Given the description of an element on the screen output the (x, y) to click on. 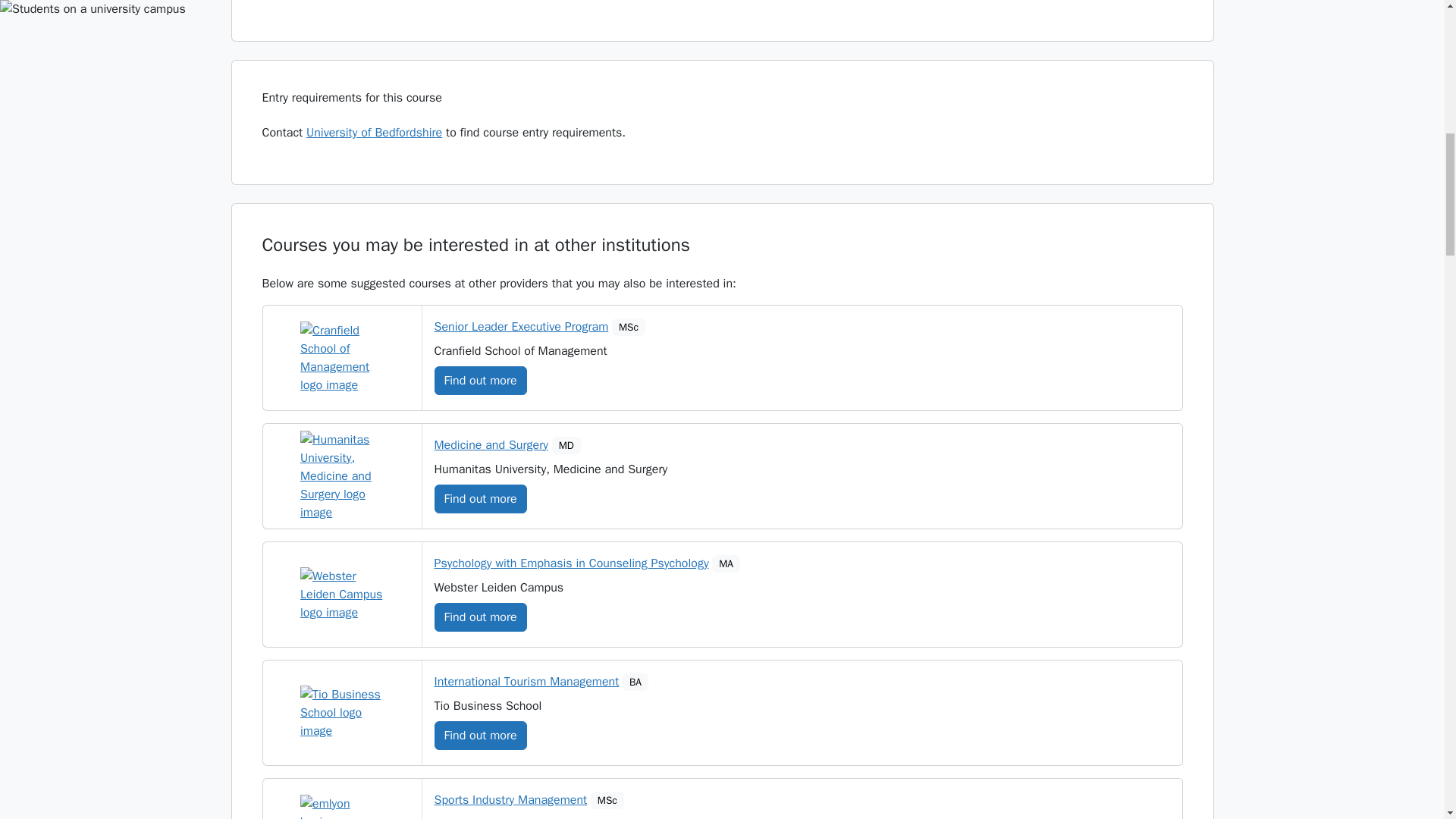
Humanitas University, Medicine and Surgery (341, 475)
emlyon business school (341, 806)
Webster Leiden Campus (341, 594)
Cranfield School of Management (341, 357)
Tio Business School (341, 712)
University of Bedfordshire (373, 132)
